Given the description of an element on the screen output the (x, y) to click on. 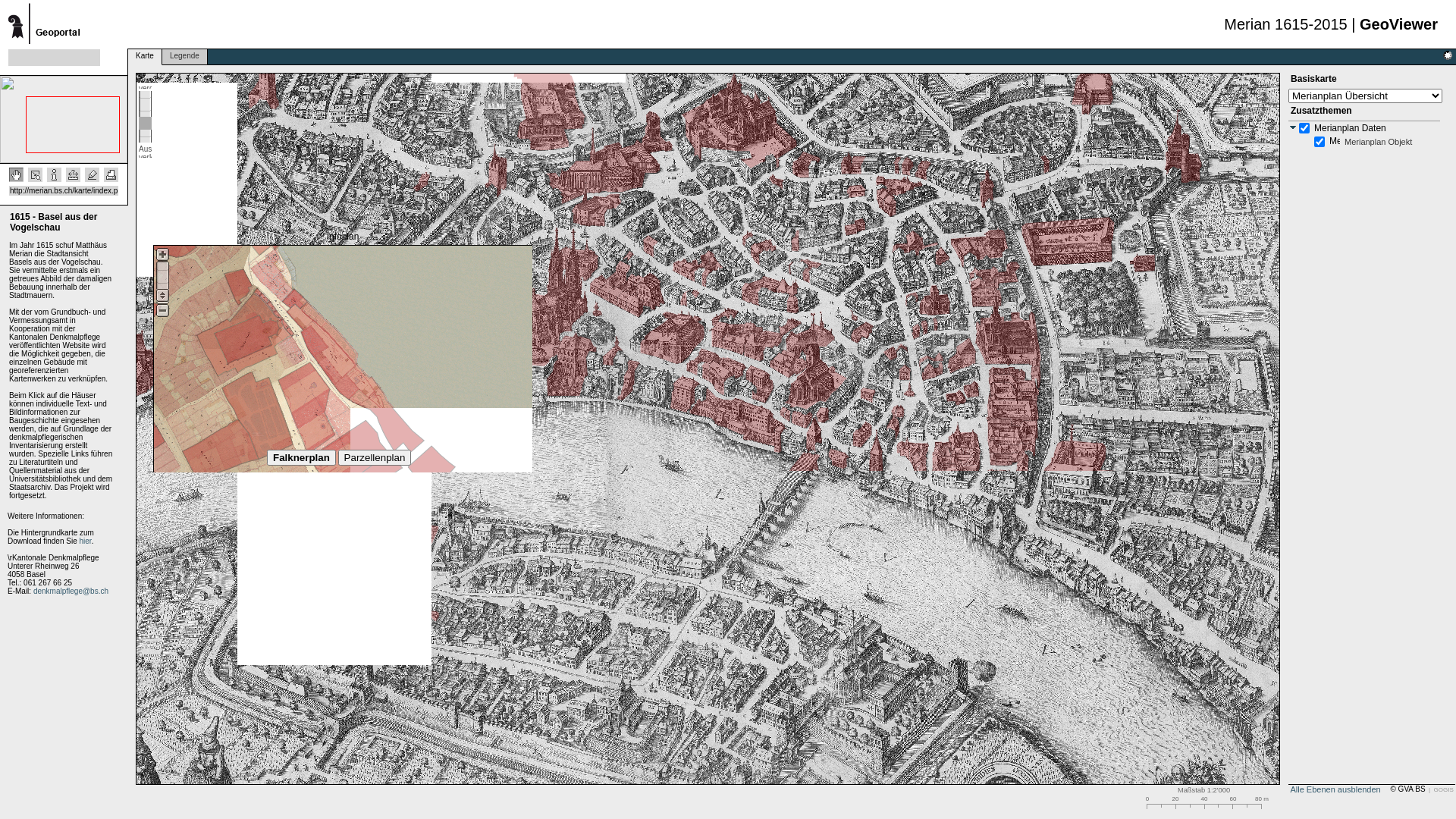
Parzellenplan Element type: text (374, 457)
Falknerplan Element type: text (300, 457)
